Given the description of an element on the screen output the (x, y) to click on. 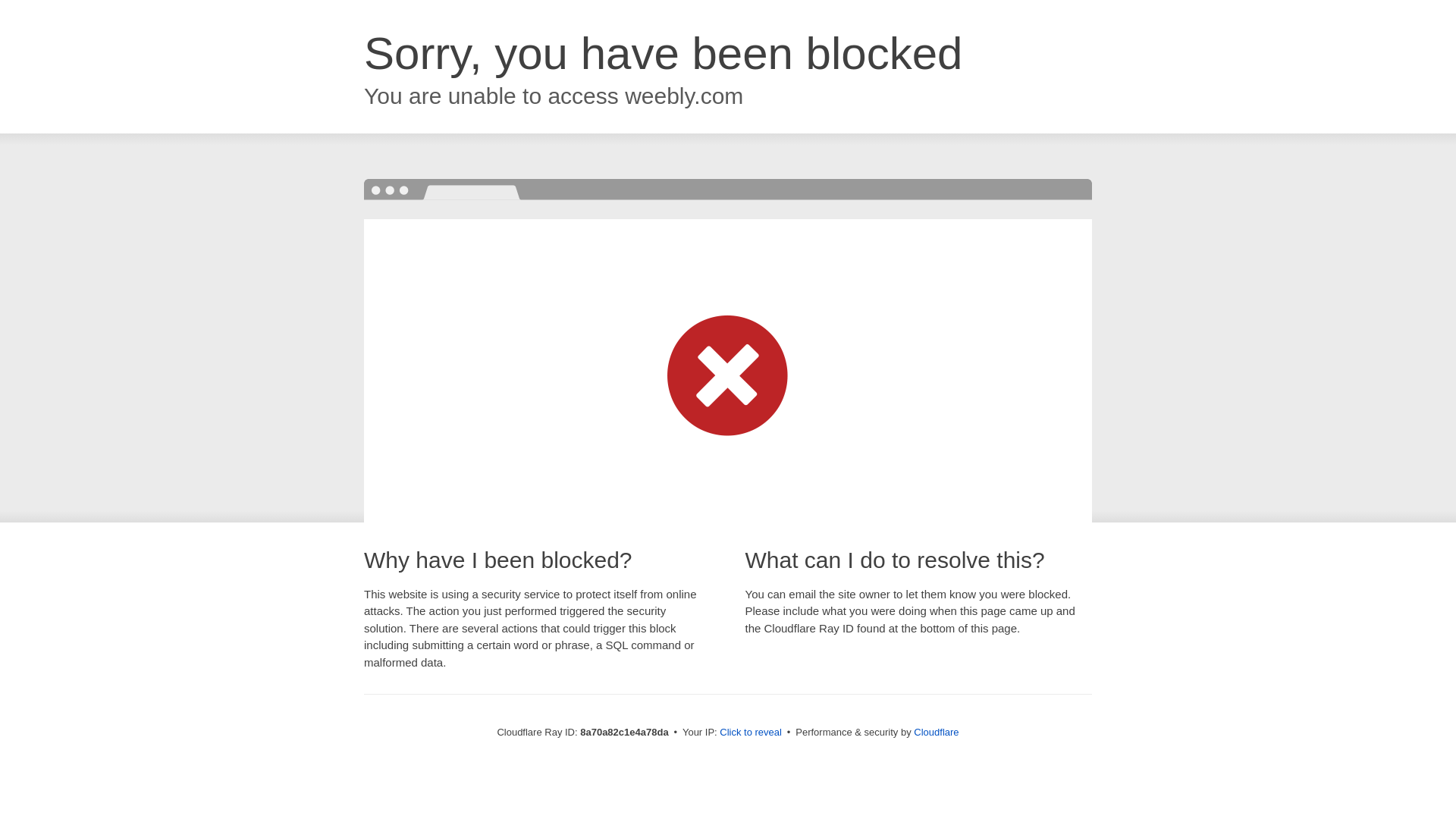
Click to reveal (750, 732)
Cloudflare (936, 731)
